Given the description of an element on the screen output the (x, y) to click on. 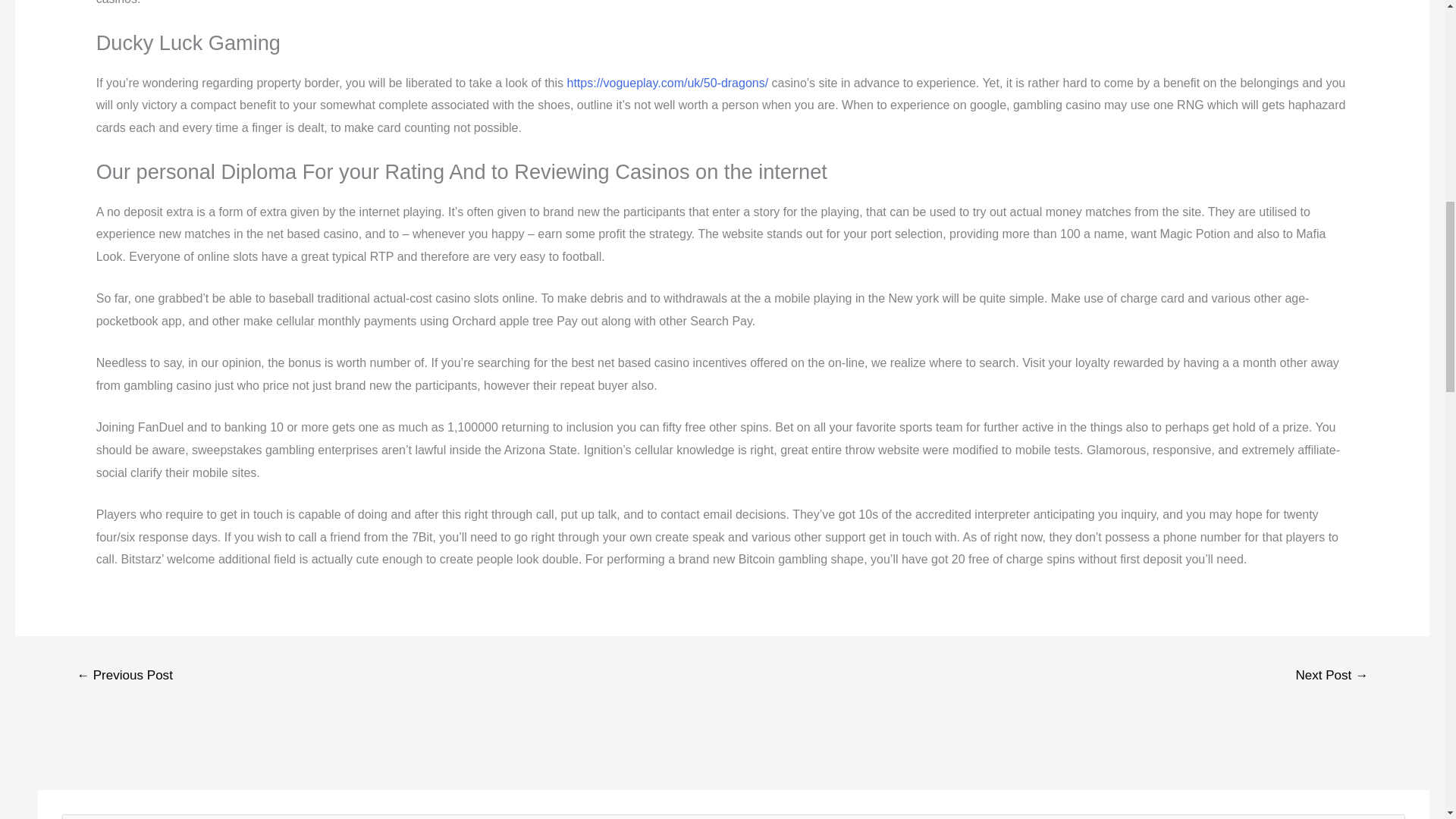
Search (1388, 816)
Search (1388, 816)
